Given the description of an element on the screen output the (x, y) to click on. 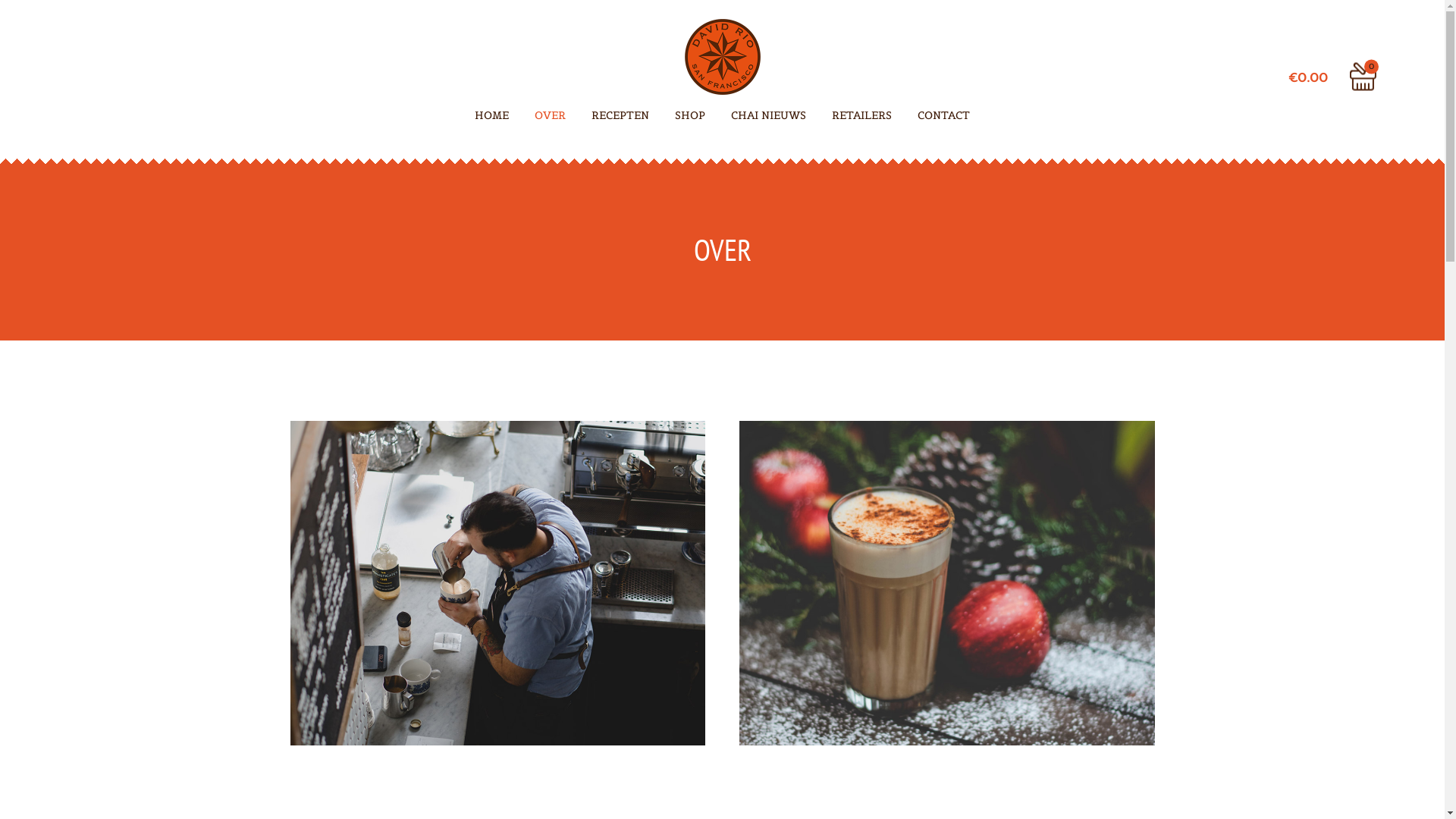
HOME Element type: text (491, 122)
CHAI NIEUWS Element type: text (768, 122)
RETAILERS Element type: text (861, 122)
RECEPTEN Element type: text (620, 122)
CONTACT Element type: text (943, 122)
OVER Element type: text (549, 122)
SHOP Element type: text (689, 122)
